Given the description of an element on the screen output the (x, y) to click on. 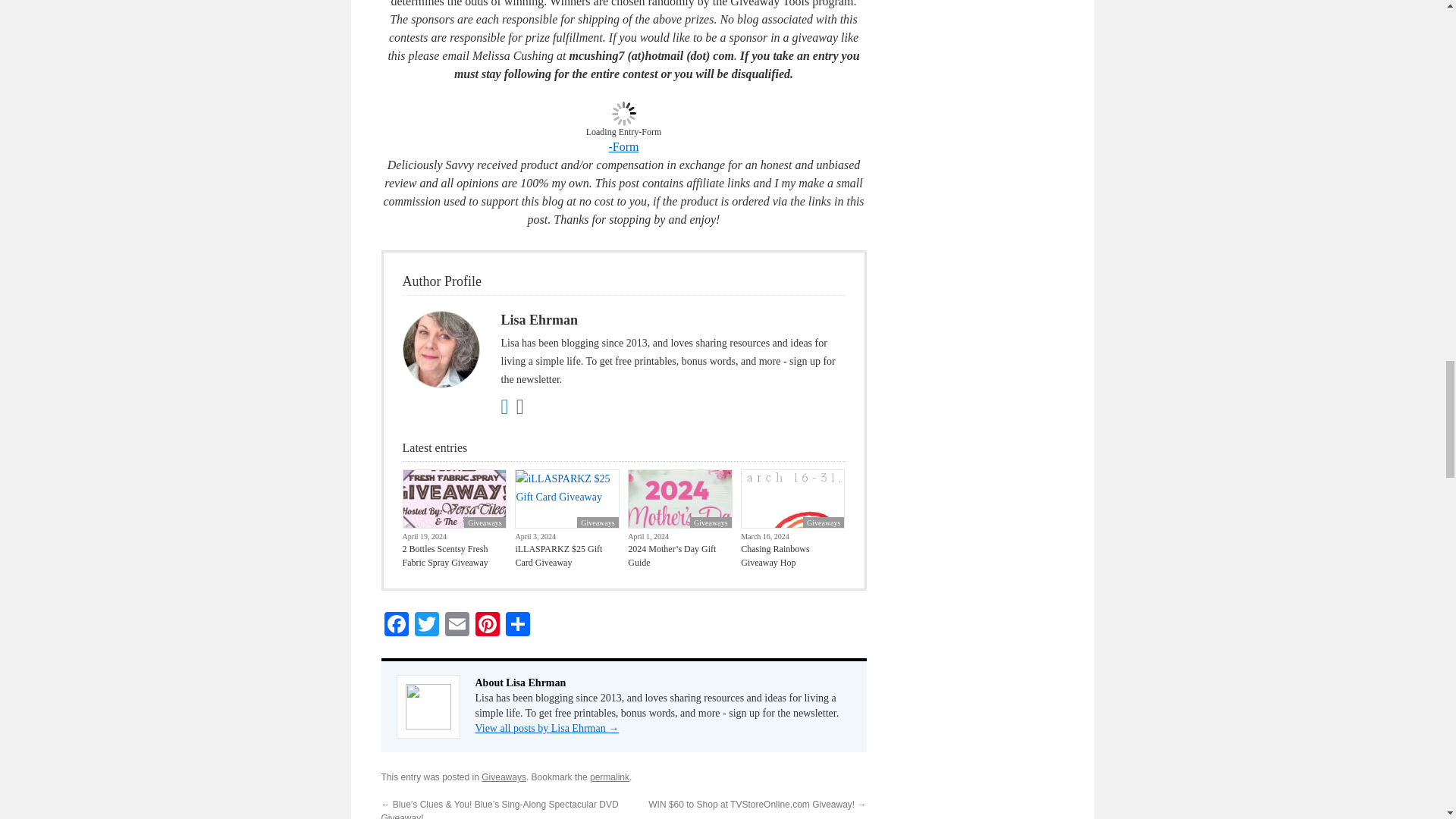
Pinterest (486, 625)
Giveaways (710, 521)
Giveaways (484, 521)
Twitter (425, 625)
2 Bottles Scentsy Fresh Fabric Spray Giveaway (453, 555)
-Form (623, 146)
Facebook (395, 625)
Giveaways (596, 521)
Email (456, 625)
